Given the description of an element on the screen output the (x, y) to click on. 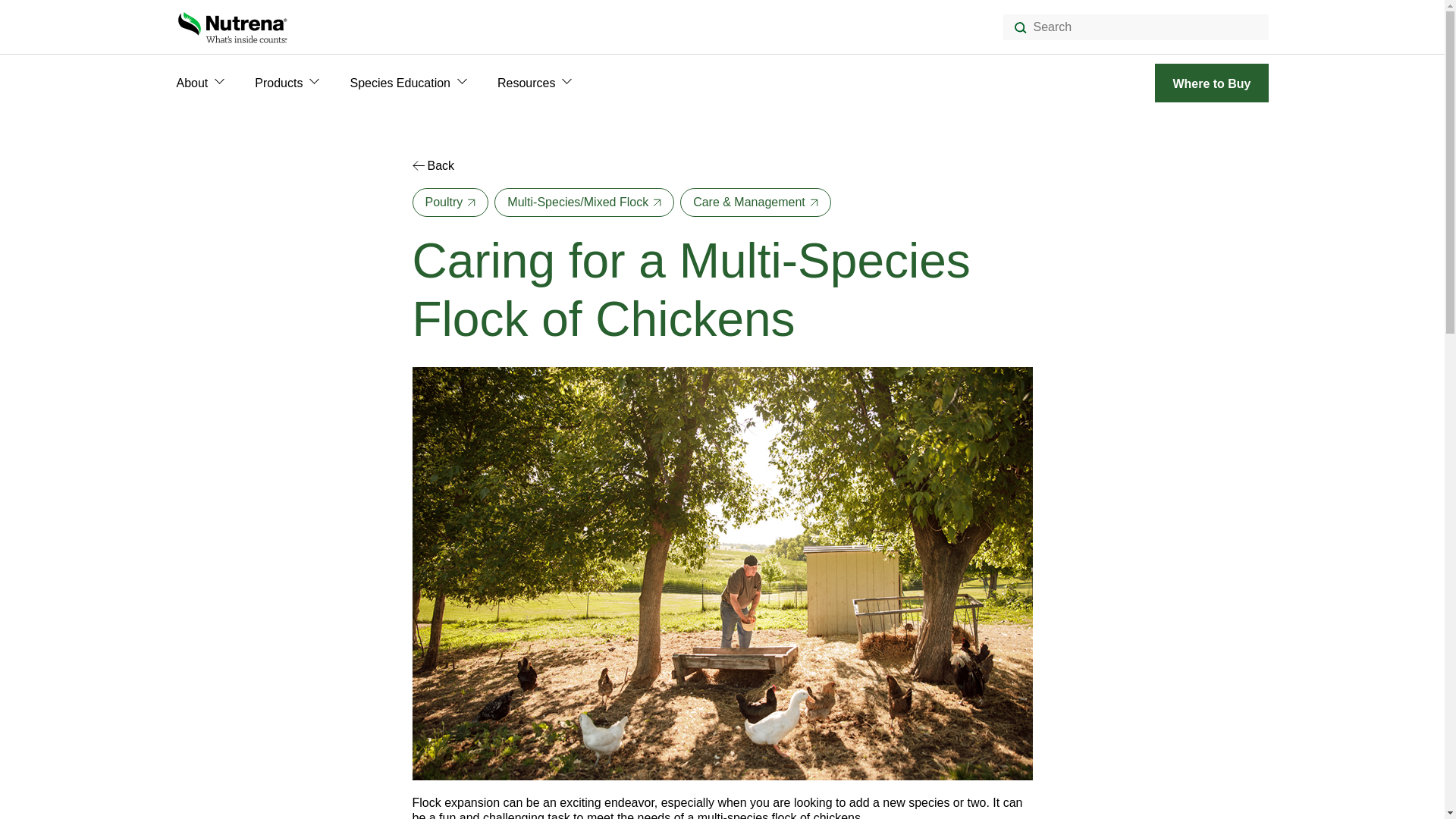
About (192, 82)
Species Education (399, 82)
Where to Buy (1211, 82)
Products (278, 82)
Resources (525, 82)
